Given the description of an element on the screen output the (x, y) to click on. 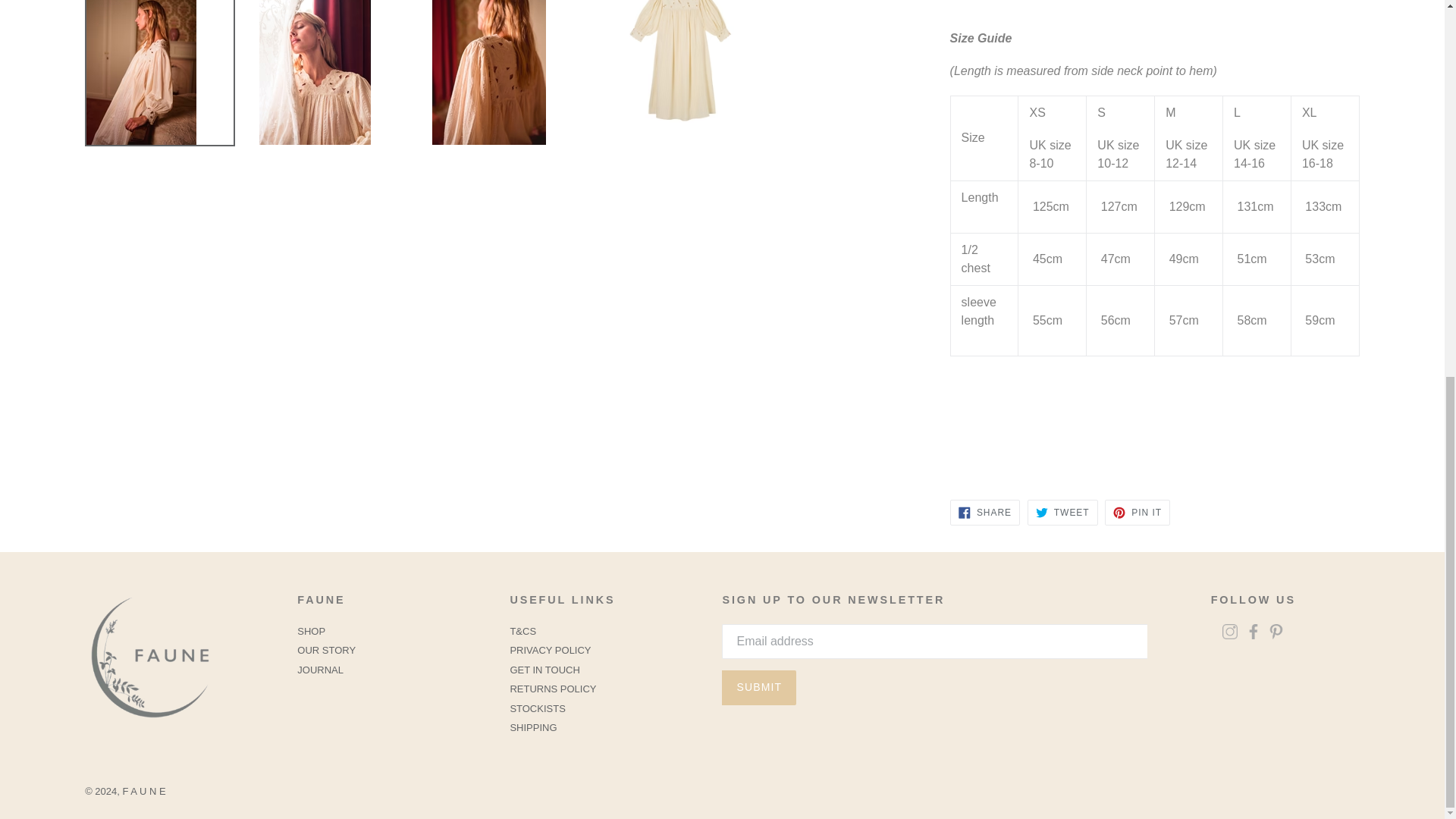
F A U N E  on Facebook (1253, 634)
Tweet on Twitter (1062, 512)
Share on Facebook (985, 512)
F A U N E  on Pinterest (1275, 634)
F A U N E  on Instagram (1230, 634)
Pin on Pinterest (1137, 512)
